Given the description of an element on the screen output the (x, y) to click on. 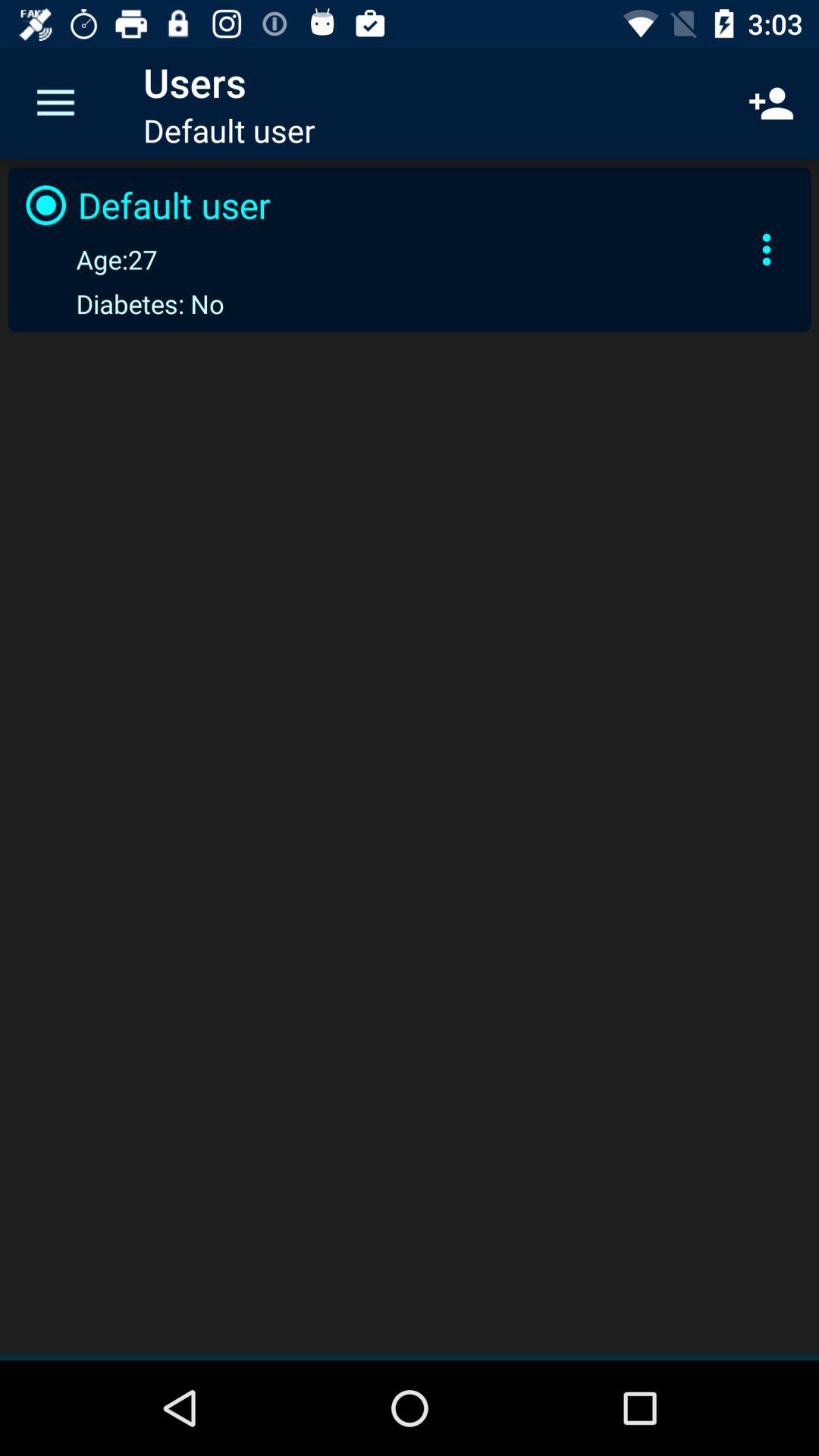
press the icon next to users item (55, 103)
